Given the description of an element on the screen output the (x, y) to click on. 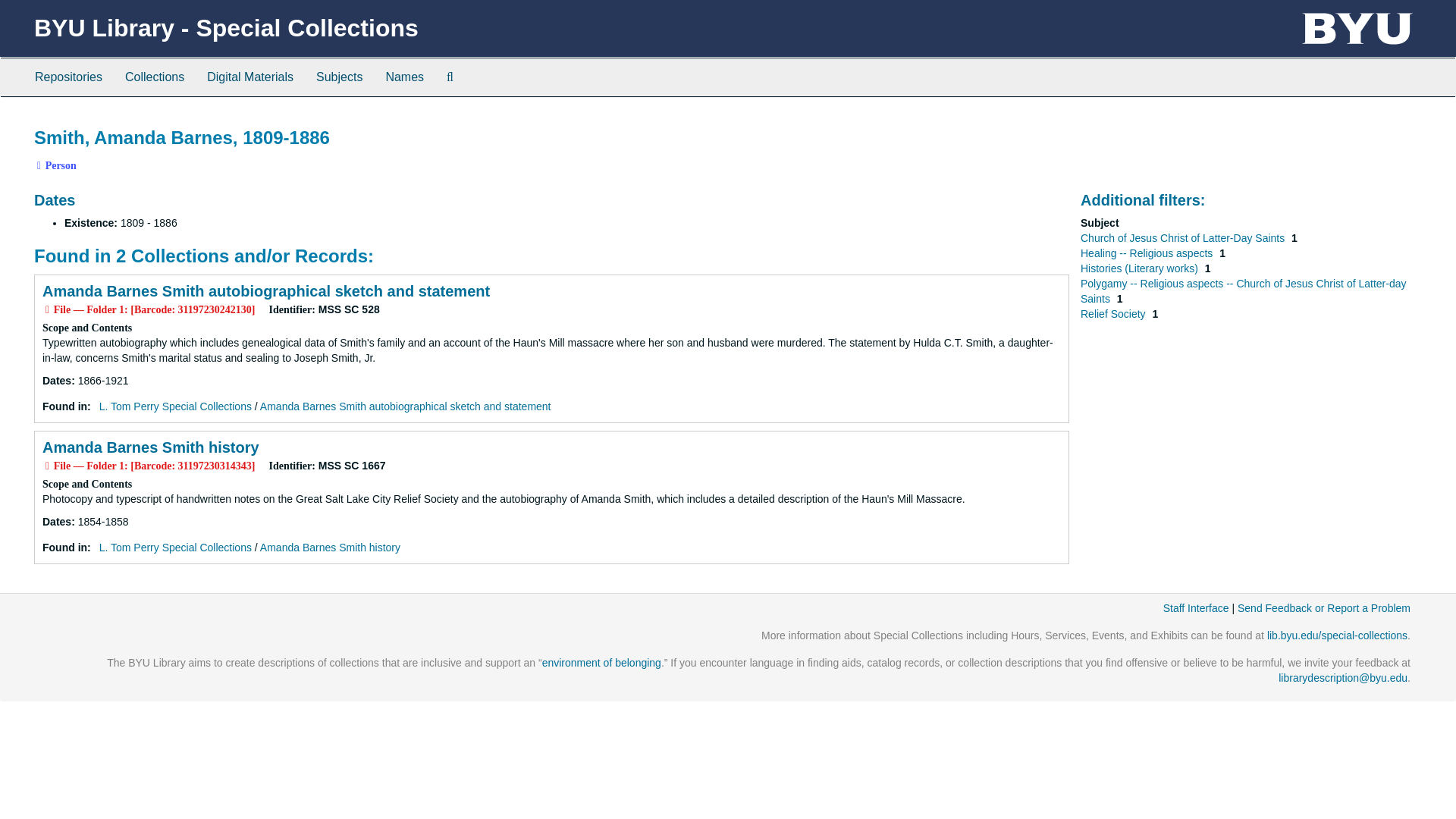
Repositories (68, 77)
Filter By 'Relief Society' (1114, 313)
Amanda Barnes Smith autobiographical sketch and statement (405, 406)
Relief Society (1114, 313)
Names (404, 77)
Page Actions (1139, 120)
Send Feedback or Report a Problem (1323, 607)
translation missing: en.dates (56, 380)
L. Tom Perry Special Collections (175, 406)
